Given the description of an element on the screen output the (x, y) to click on. 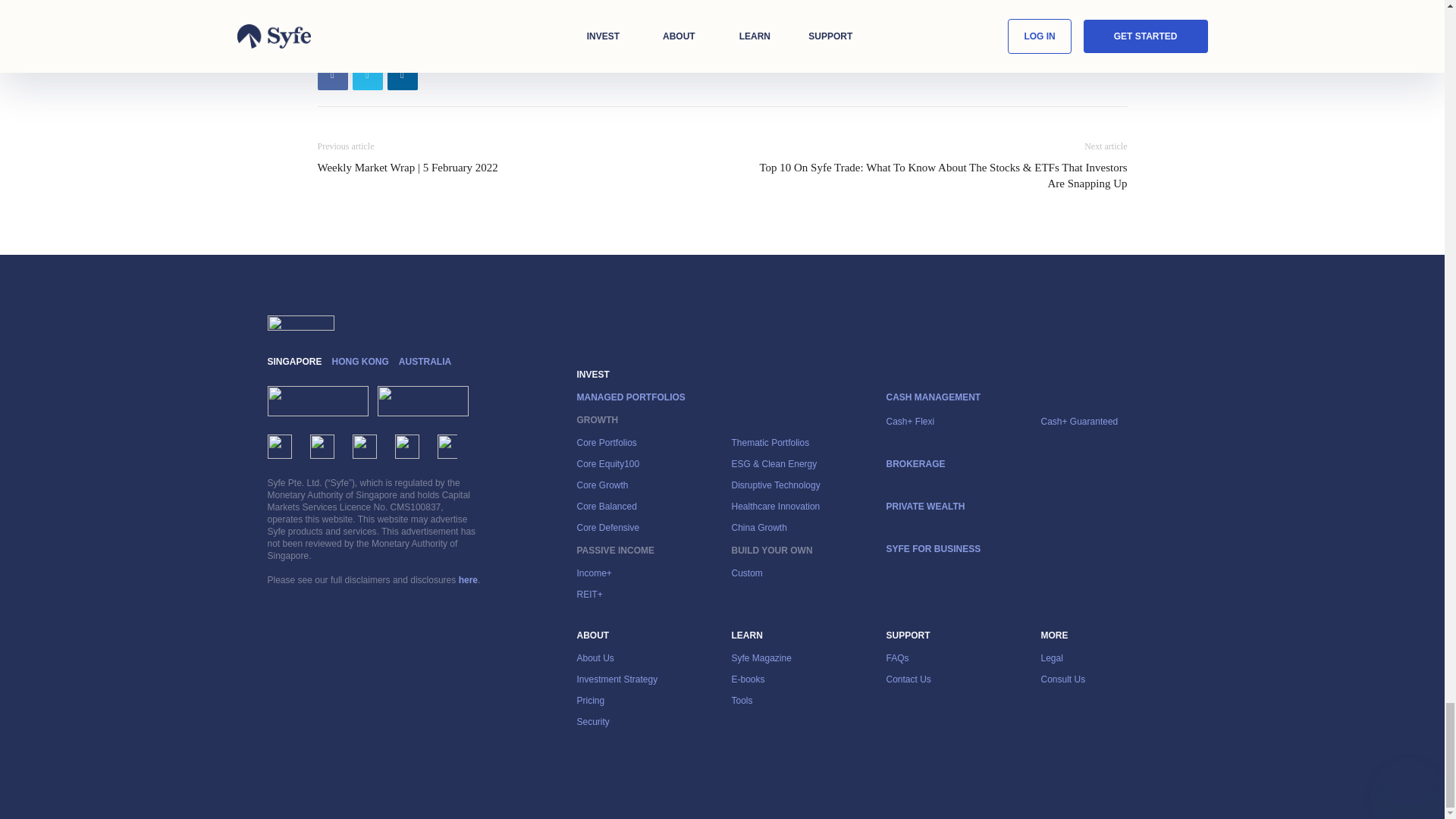
Linkedin (401, 74)
Twitter (366, 74)
Facebook (332, 74)
